Given the description of an element on the screen output the (x, y) to click on. 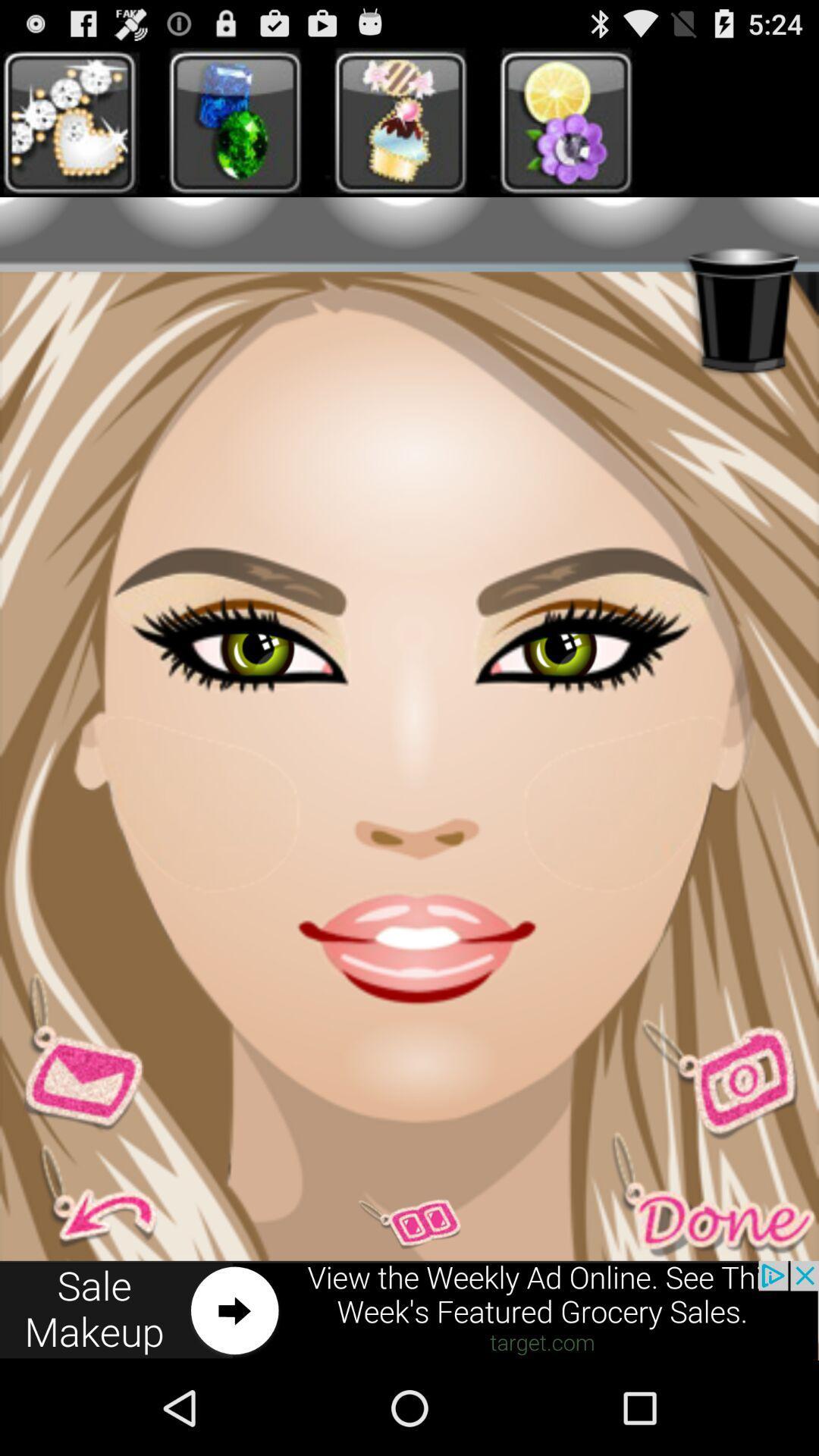
click on fourth image at top left corner (566, 122)
click on second image at top left corner (248, 122)
